Given the description of an element on the screen output the (x, y) to click on. 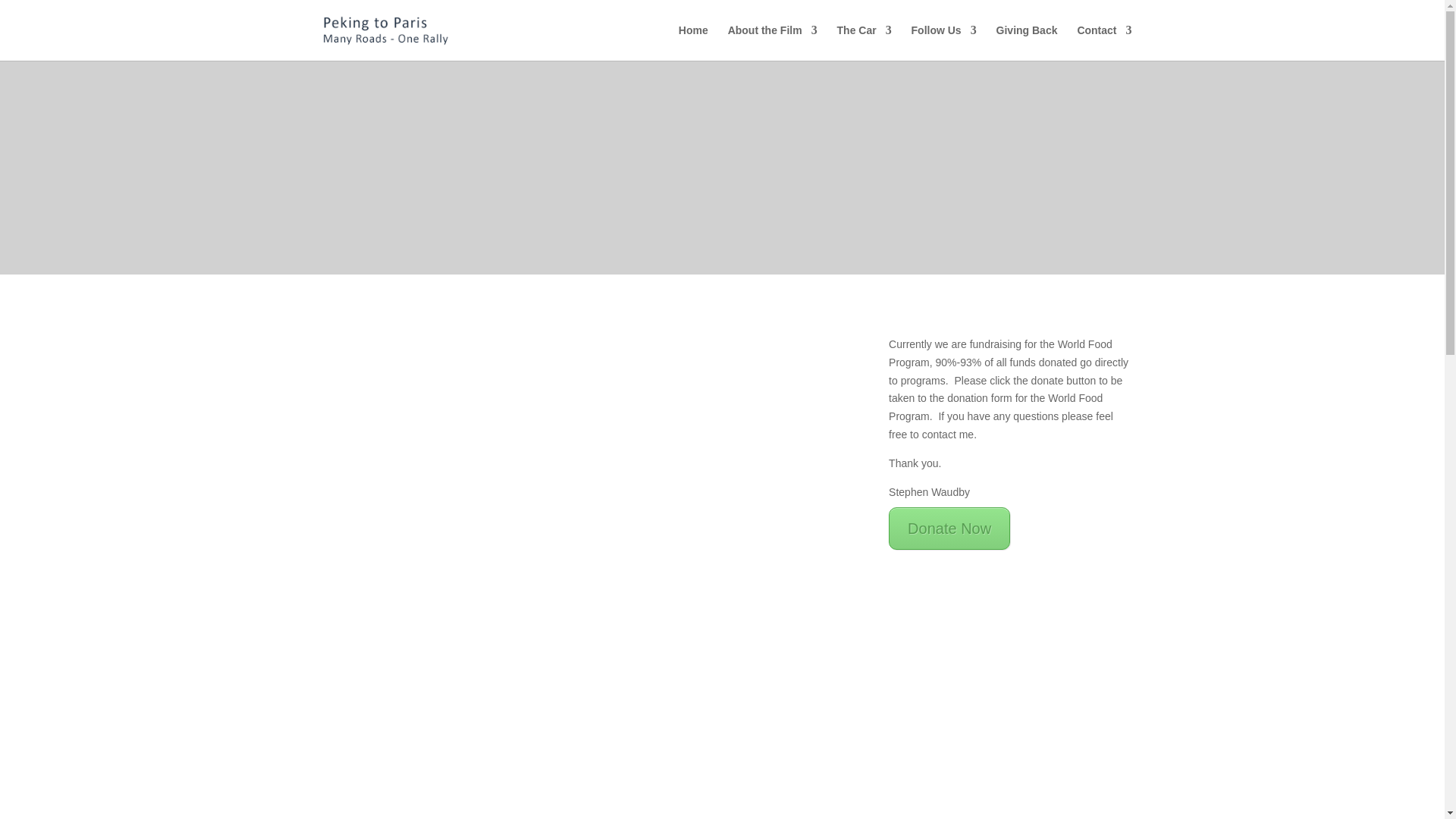
Contact (1104, 42)
About the Film (772, 42)
Follow Us (943, 42)
Donate Now (949, 527)
Giving Back (1026, 42)
The Car (864, 42)
